Given the description of an element on the screen output the (x, y) to click on. 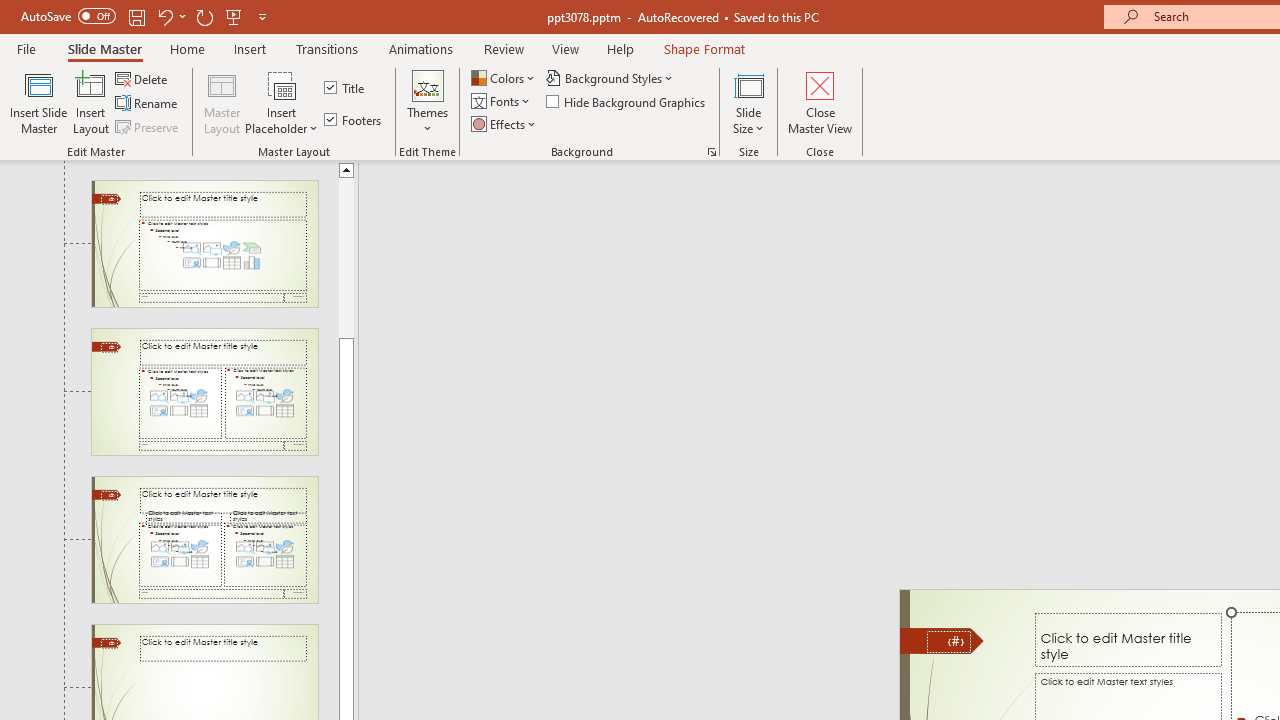
Master Layout... (221, 102)
Insert Placeholder (282, 102)
Slide Master (104, 48)
Footers (354, 119)
Themes (427, 102)
